Given the description of an element on the screen output the (x, y) to click on. 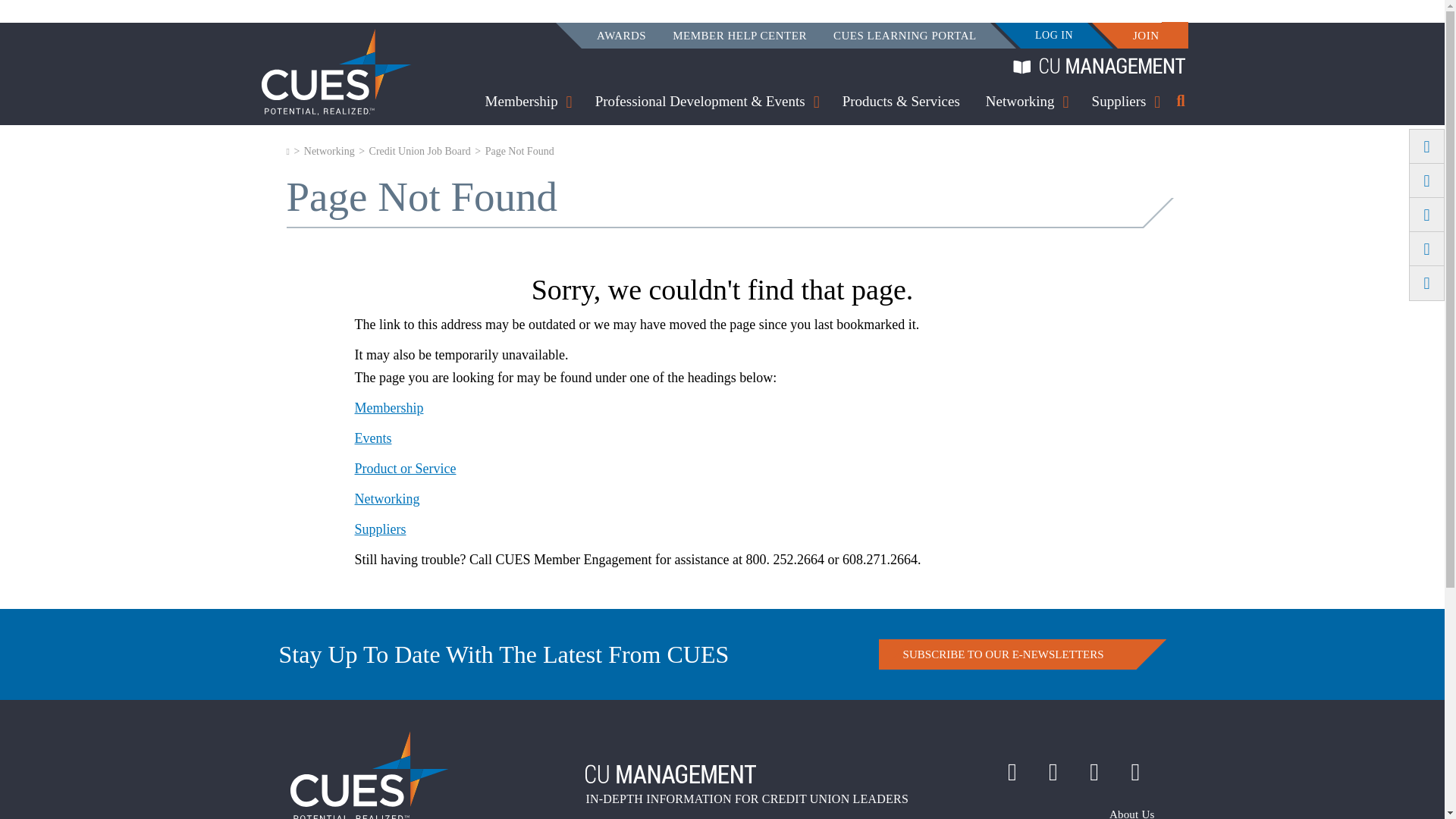
Membership (520, 103)
AWARDS (621, 36)
Suppliers (1119, 103)
MEMBER HELP CENTER (739, 36)
LOG IN (1054, 35)
JOIN (1145, 36)
CUES LEARNING PORTAL (904, 36)
Networking (1019, 103)
Home (335, 71)
